Given the description of an element on the screen output the (x, y) to click on. 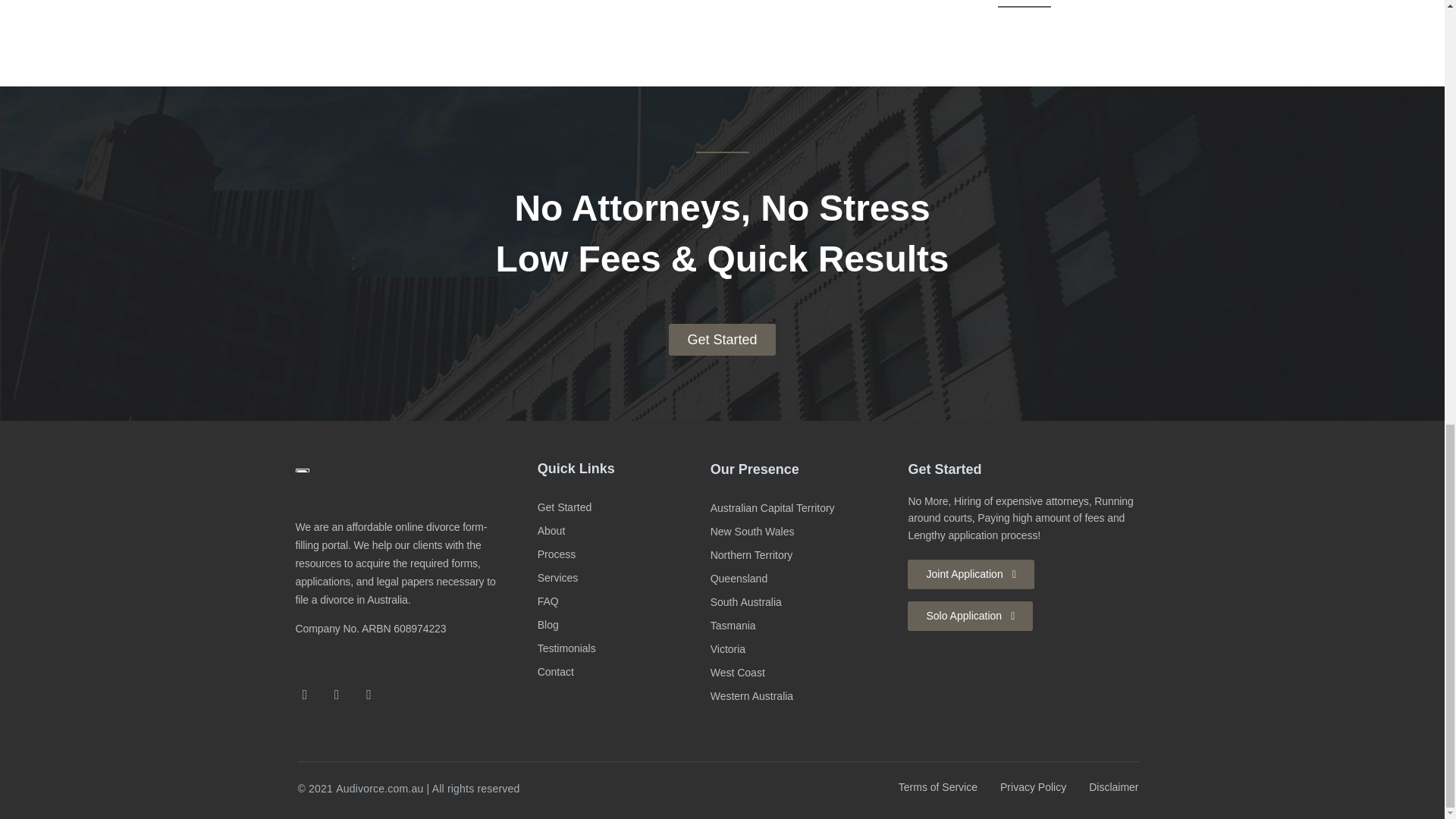
Blog (620, 625)
Queensland (802, 578)
Testimonials (620, 648)
About (620, 530)
Northern Territory (802, 555)
FAQ (620, 601)
Get Started (620, 507)
Contact (620, 672)
Australian Capital Territory (802, 508)
Process (620, 554)
